Given the description of an element on the screen output the (x, y) to click on. 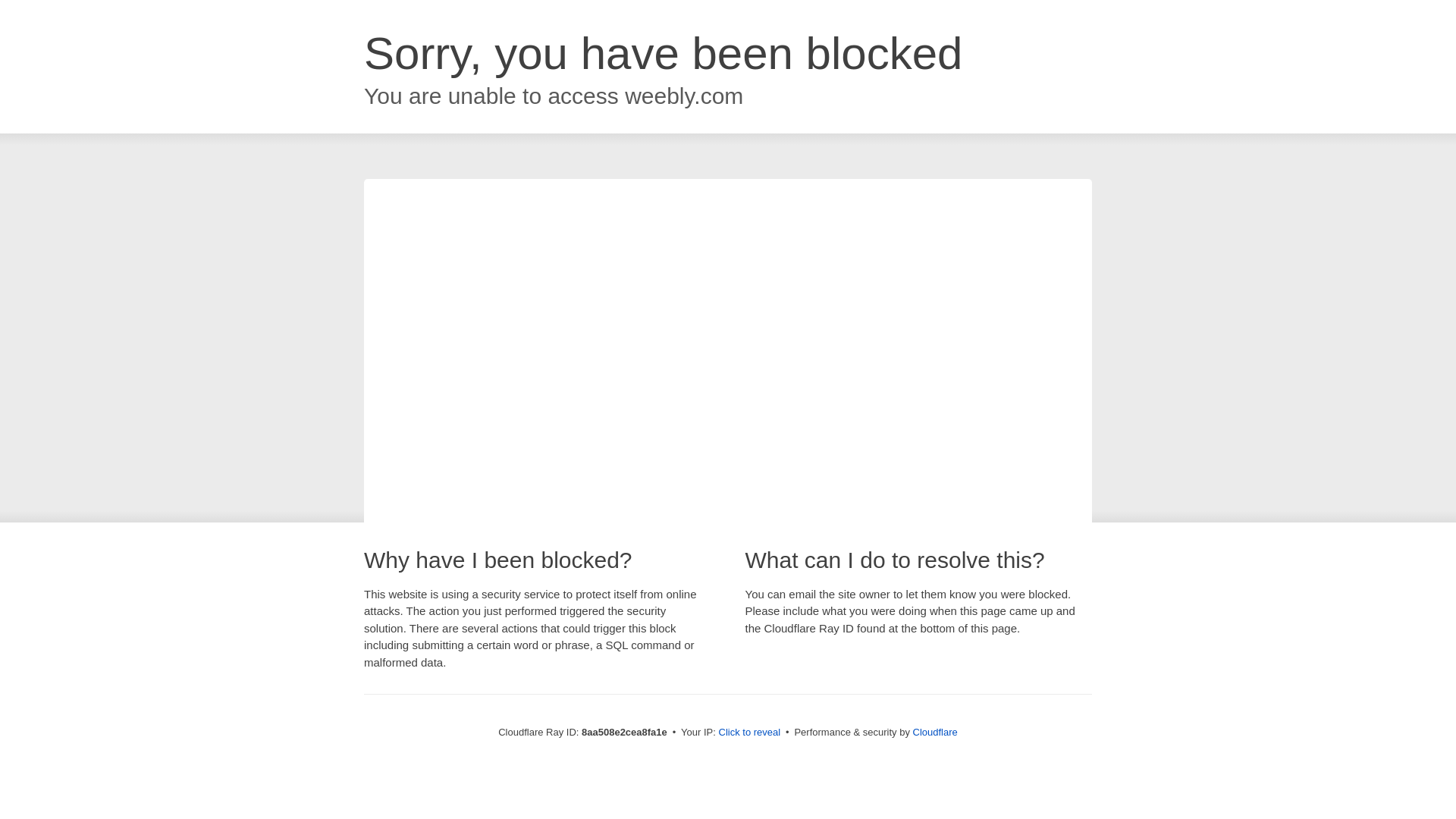
Click to reveal (749, 732)
Cloudflare (935, 731)
